Given the description of an element on the screen output the (x, y) to click on. 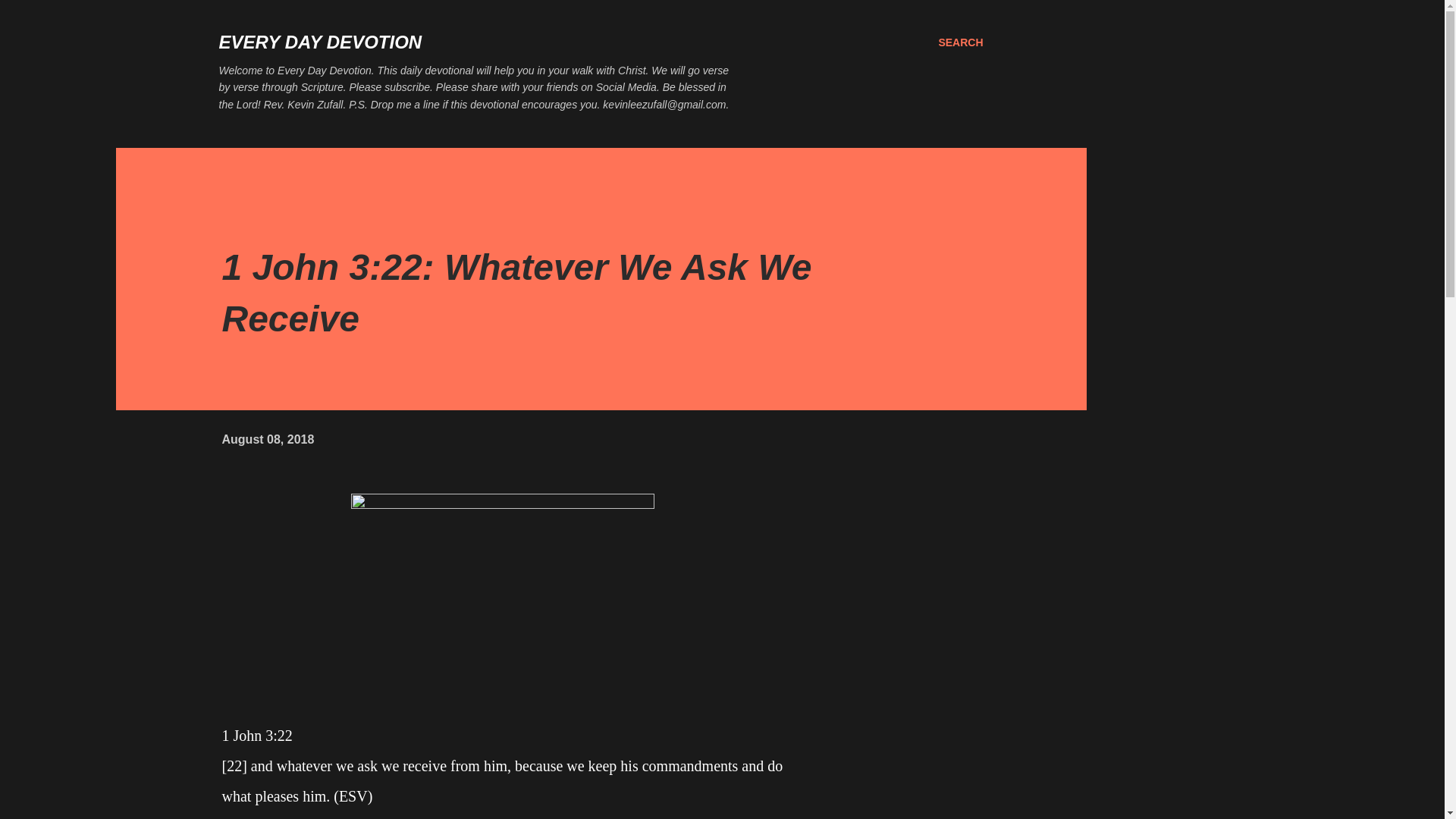
August 08, 2018 (267, 439)
SEARCH (959, 42)
permanent link (267, 439)
EVERY DAY DEVOTION (320, 41)
